Given the description of an element on the screen output the (x, y) to click on. 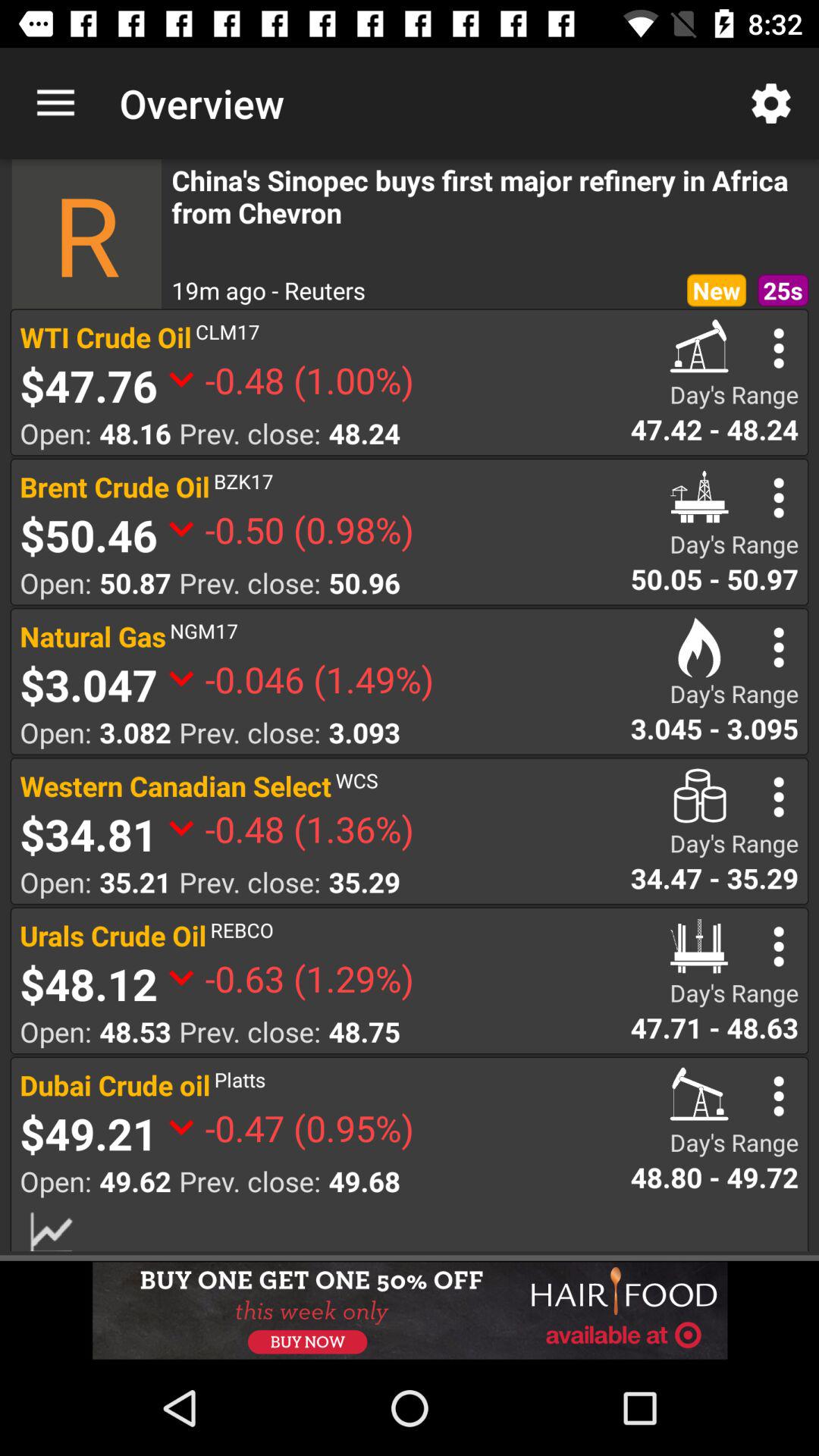
go to options (778, 647)
